Given the description of an element on the screen output the (x, y) to click on. 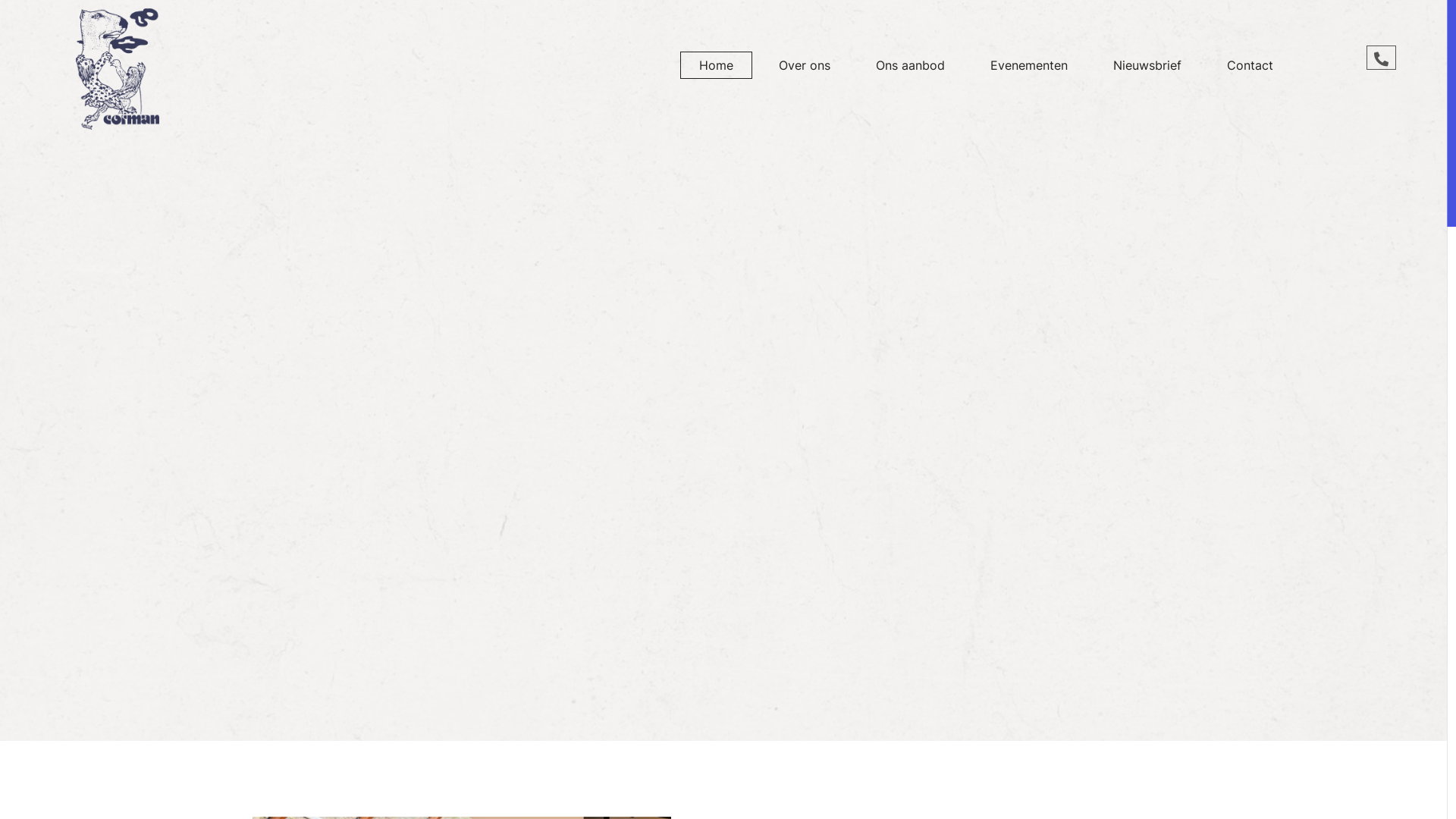
Ons aanbod Element type: text (909, 64)
Contact Element type: text (1250, 64)
Home Element type: text (716, 64)
Nieuwsbrief Element type: text (1147, 64)
Evenementen Element type: text (1028, 64)
Over ons Element type: text (804, 64)
